Given the description of an element on the screen output the (x, y) to click on. 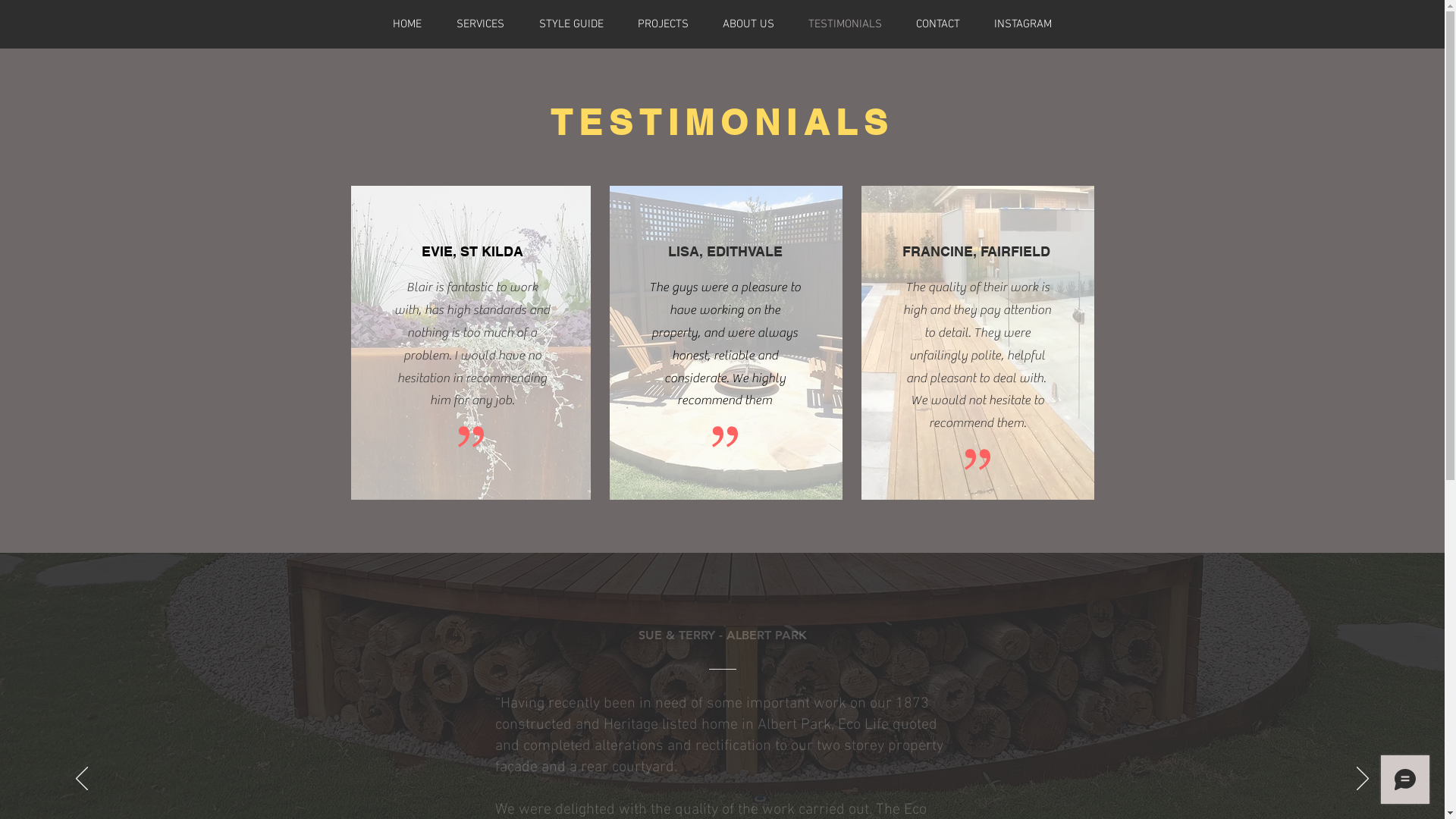
ABOUT US Element type: text (747, 24)
STYLE GUIDE Element type: text (571, 24)
TESTIMONIALS Element type: text (845, 24)
HOME Element type: text (406, 24)
PROJECTS Element type: text (662, 24)
INSTAGRAM Element type: text (1022, 24)
CONTACT Element type: text (938, 24)
SERVICES Element type: text (479, 24)
